Given the description of an element on the screen output the (x, y) to click on. 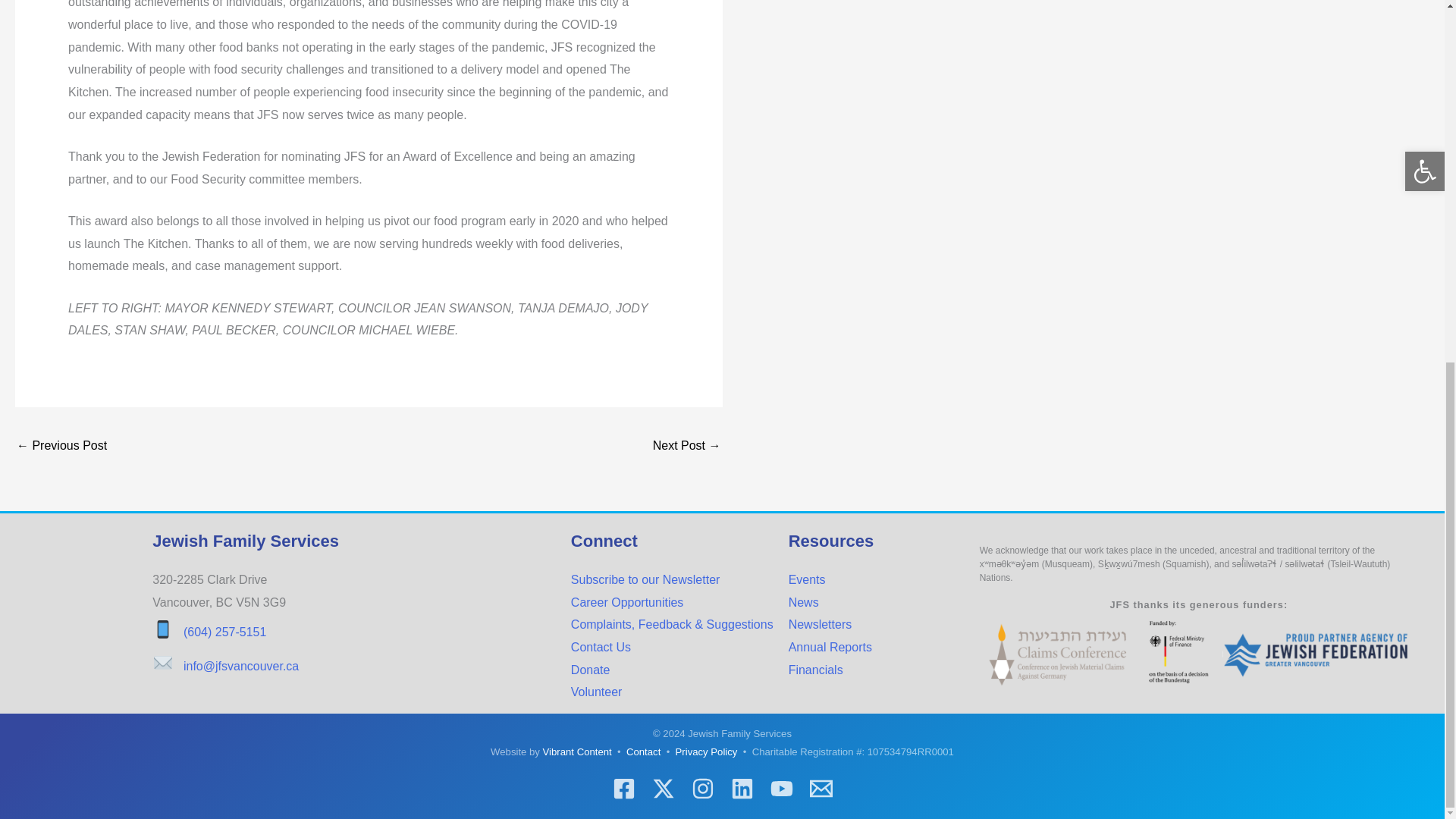
September is Hunger Action Month! (686, 447)
Marc's Story (61, 447)
